Given the description of an element on the screen output the (x, y) to click on. 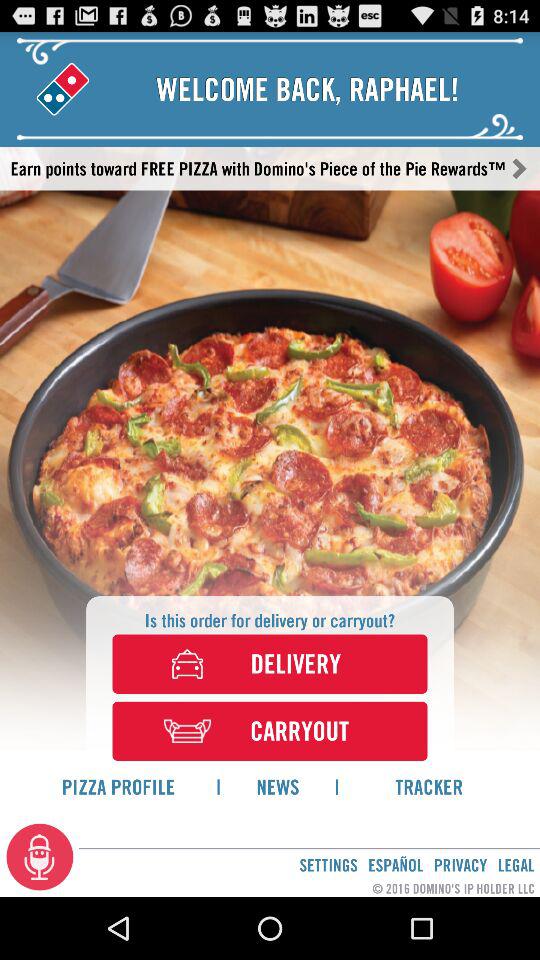
choose app next to privacy (516, 864)
